Given the description of an element on the screen output the (x, y) to click on. 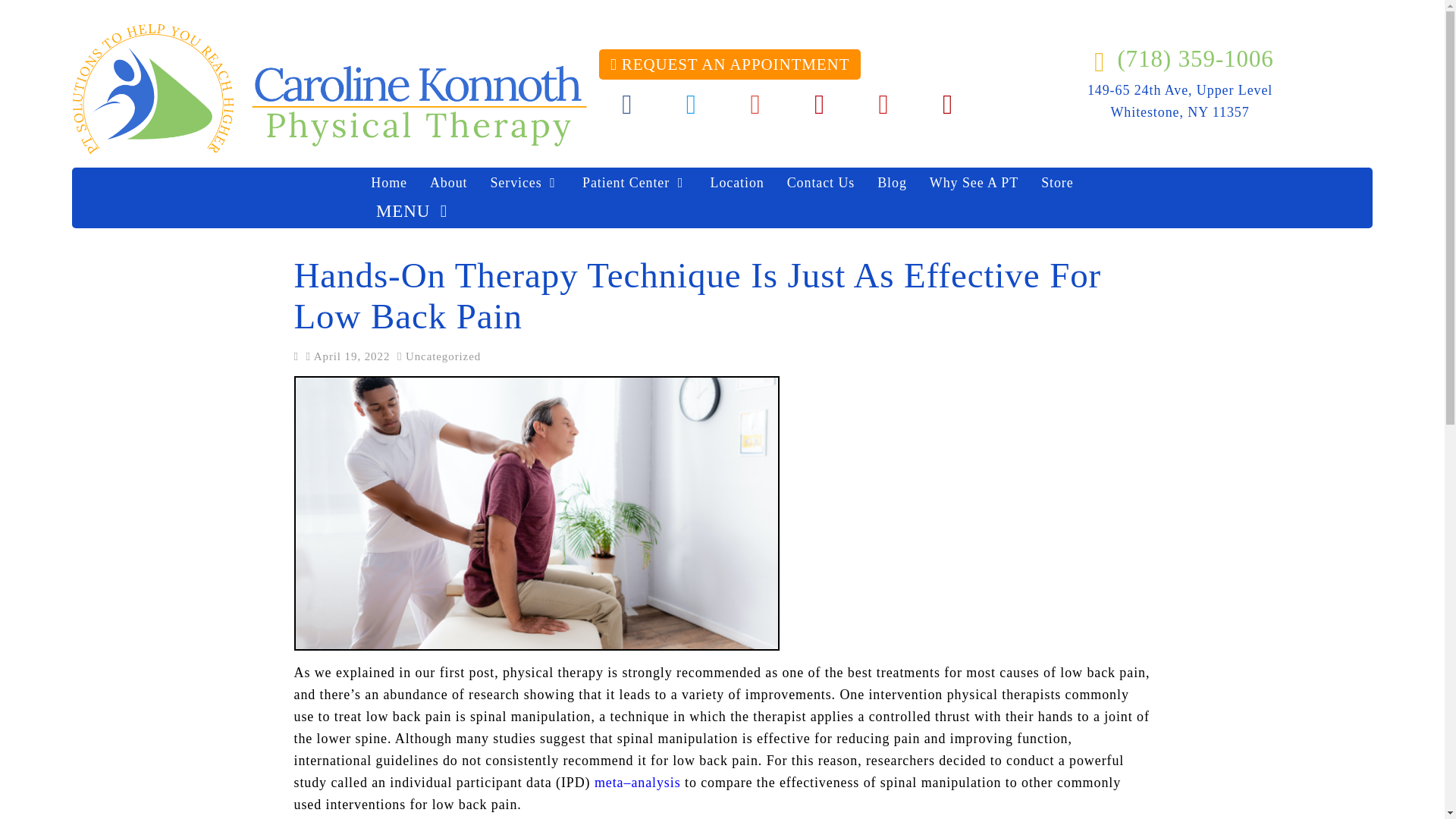
REQUEST AN APPOINTMENT (729, 64)
Blog (892, 182)
About (449, 182)
Services (524, 182)
Store (1056, 182)
Patient Center (634, 182)
Contact Us (821, 182)
MENU (411, 213)
Location (737, 182)
Home (389, 182)
Why See A PT (973, 182)
